Given the description of an element on the screen output the (x, y) to click on. 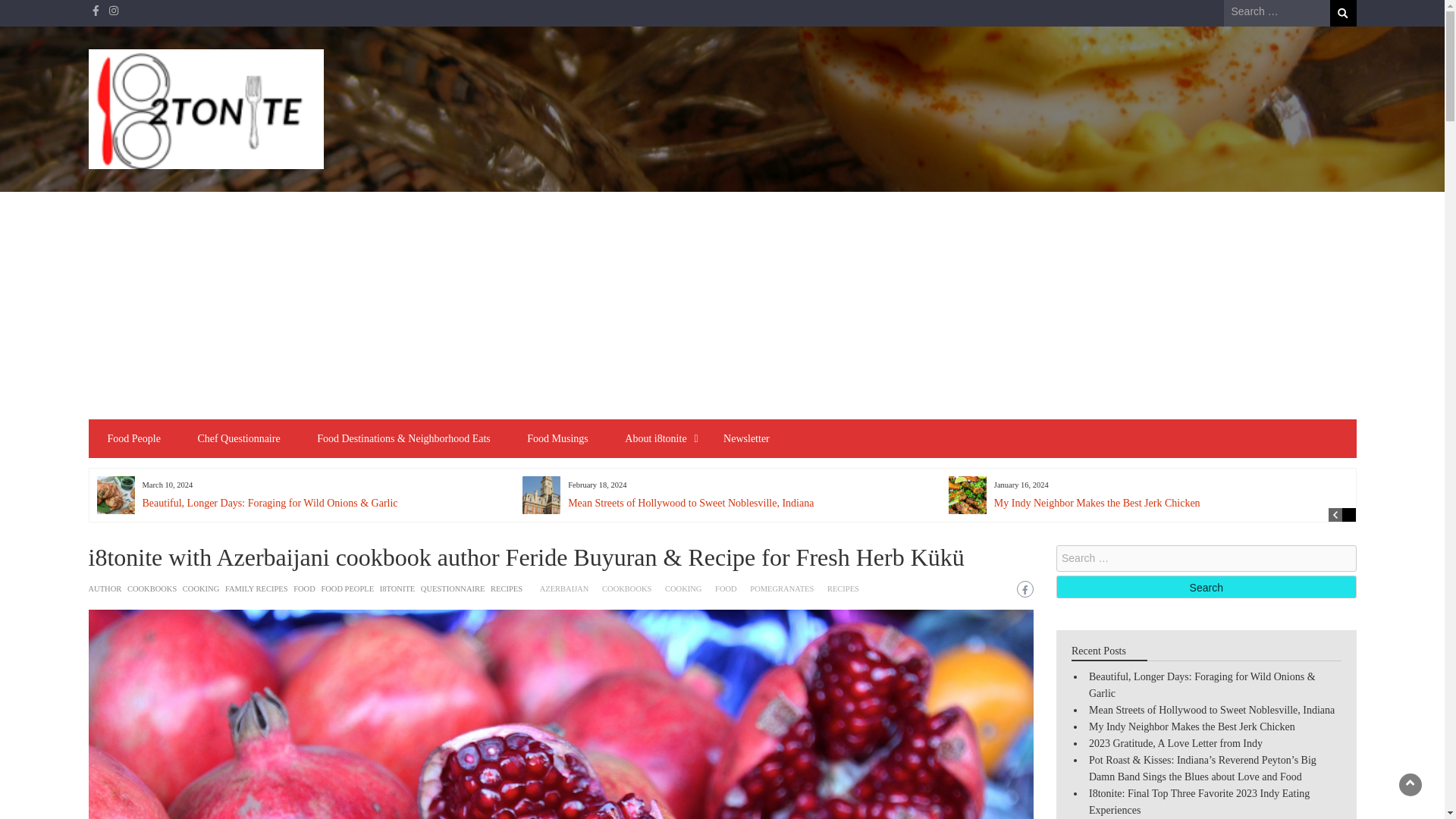
AUTHOR (103, 588)
COOKBOOKS (152, 588)
Newsletter (745, 438)
COOKING (201, 588)
FOOD (725, 588)
My Indy Neighbor Makes the Best Jerk Chicken (1096, 502)
RECIPES (506, 588)
Chef Questionnaire (238, 438)
POMEGRANATES (781, 588)
Search (1206, 586)
Search (1343, 13)
Mean Streets of Hollywood to Sweet Noblesville, Indiana (690, 502)
QUESTIONNAIRE (452, 588)
Search for: (1277, 11)
I8TONITE (397, 588)
